Given the description of an element on the screen output the (x, y) to click on. 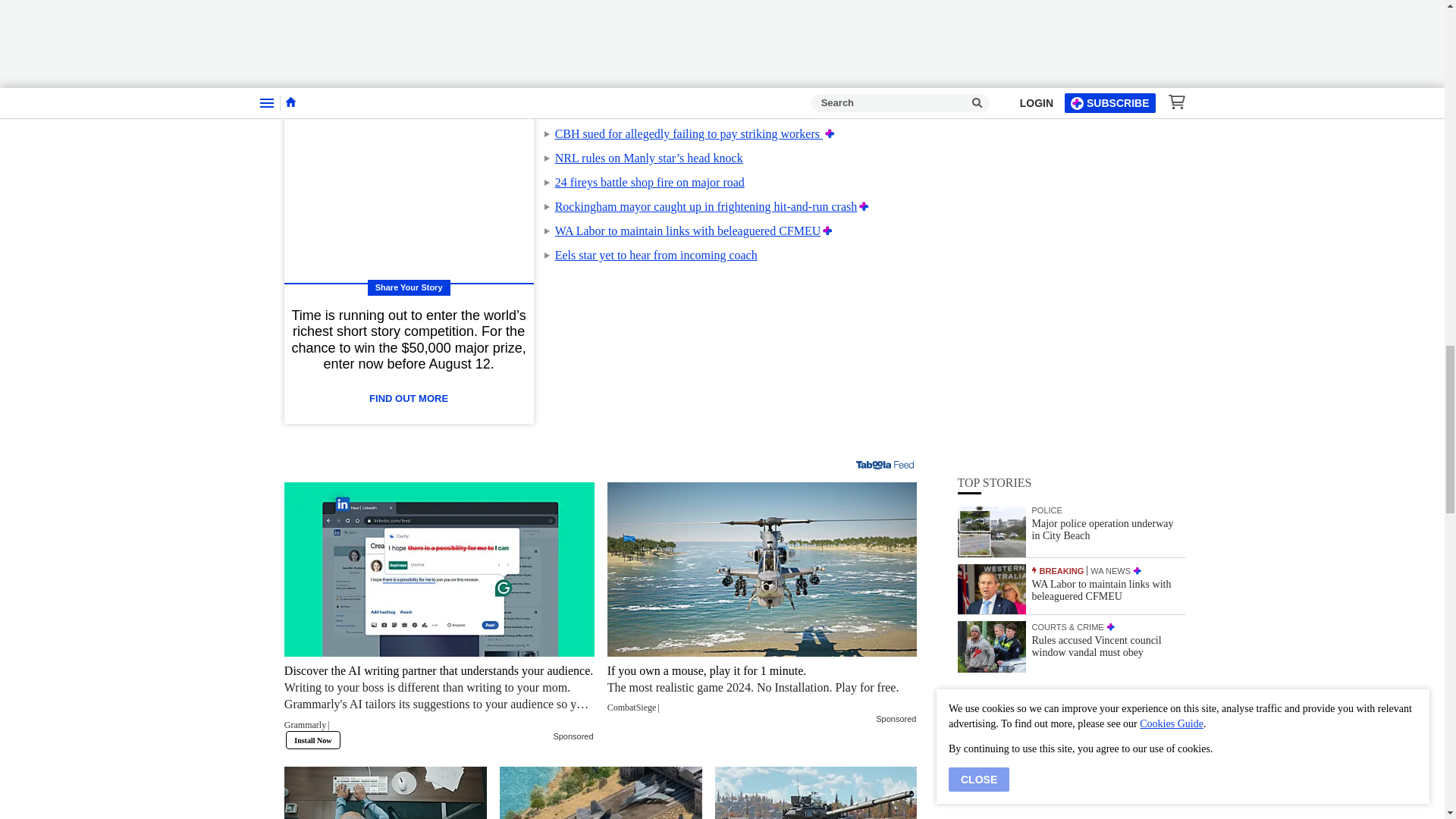
If you own a mouse, play it for 1 minute. (762, 569)
Premium (863, 205)
If you own a mouse, play it for 1 minute. (762, 687)
Premium (827, 230)
Premium (829, 133)
